Given the description of an element on the screen output the (x, y) to click on. 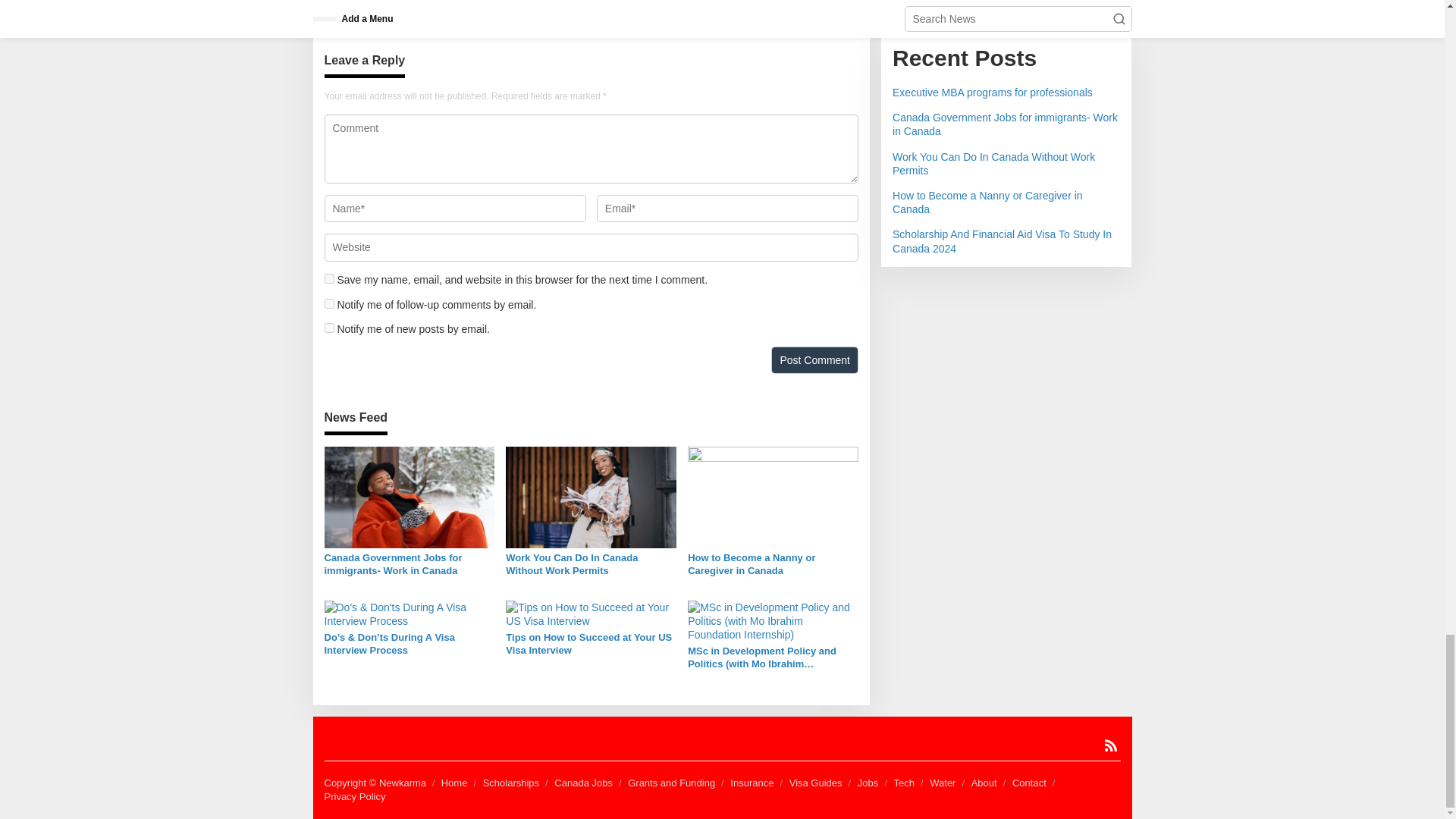
Post Comment (815, 359)
subscribe (329, 303)
subscribe (329, 327)
yes (329, 278)
